Given the description of an element on the screen output the (x, y) to click on. 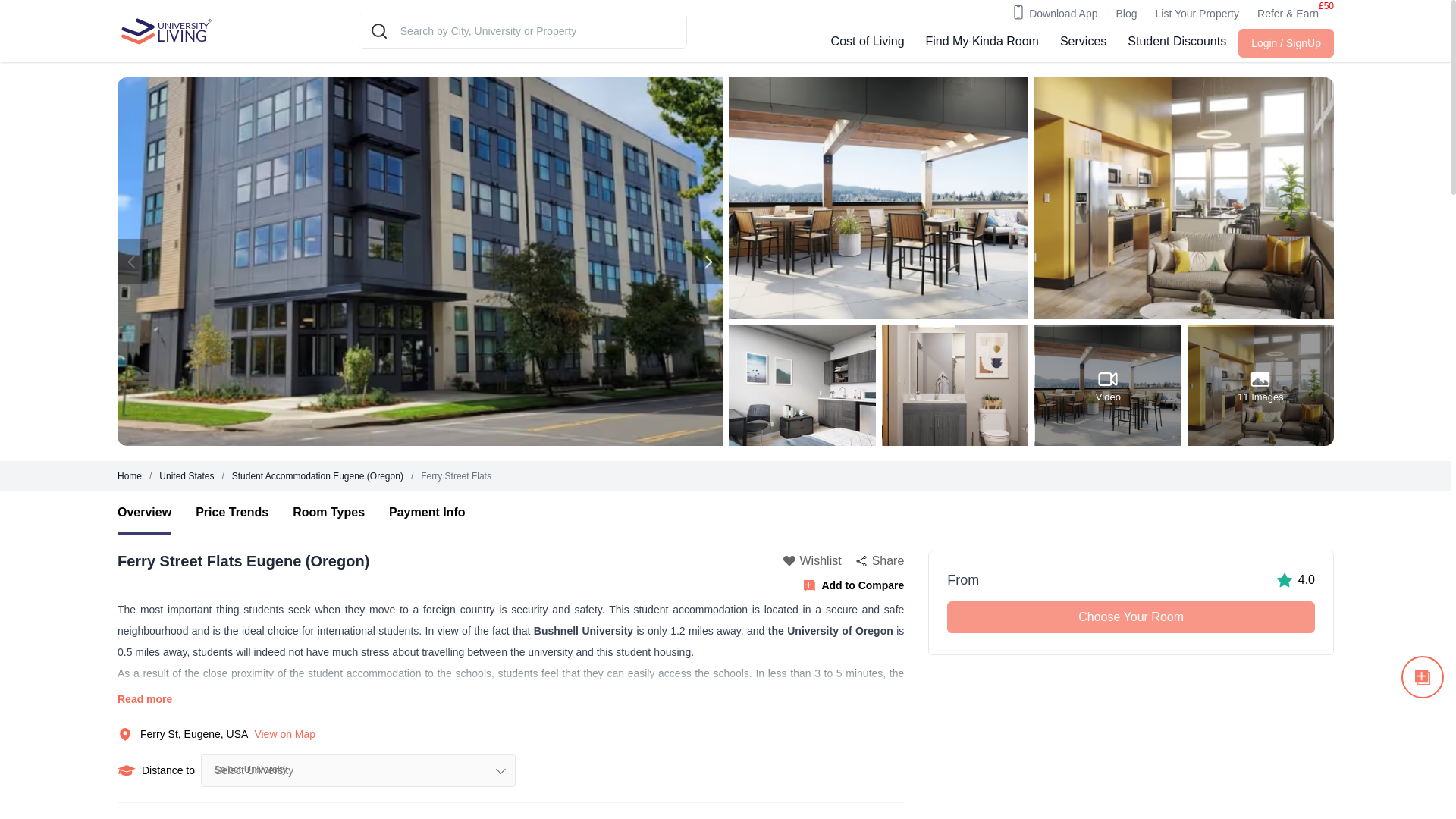
List Your Property (1198, 13)
Cost of Living (867, 43)
Choose Your Room (1130, 617)
Find My Kinda Room (982, 43)
Student Discounts (1175, 43)
Blog (1126, 13)
United States (1130, 602)
Home (186, 475)
Services (129, 475)
the University of Oregon (1082, 43)
